Given the description of an element on the screen output the (x, y) to click on. 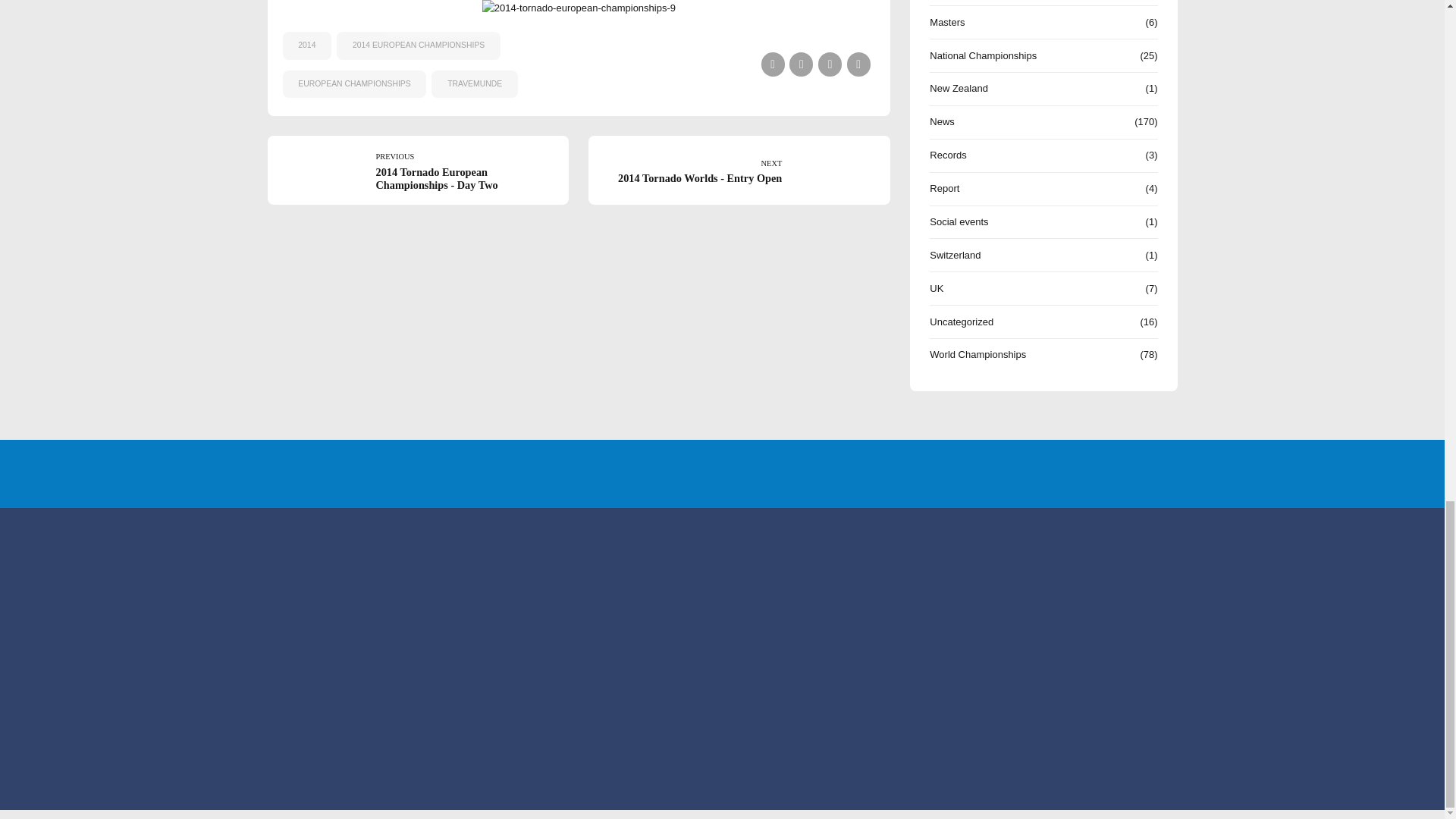
Share on VK (858, 64)
Share on Facebook (772, 64)
Share on Linkedin (829, 64)
Share on Twitter (800, 64)
